Given the description of an element on the screen output the (x, y) to click on. 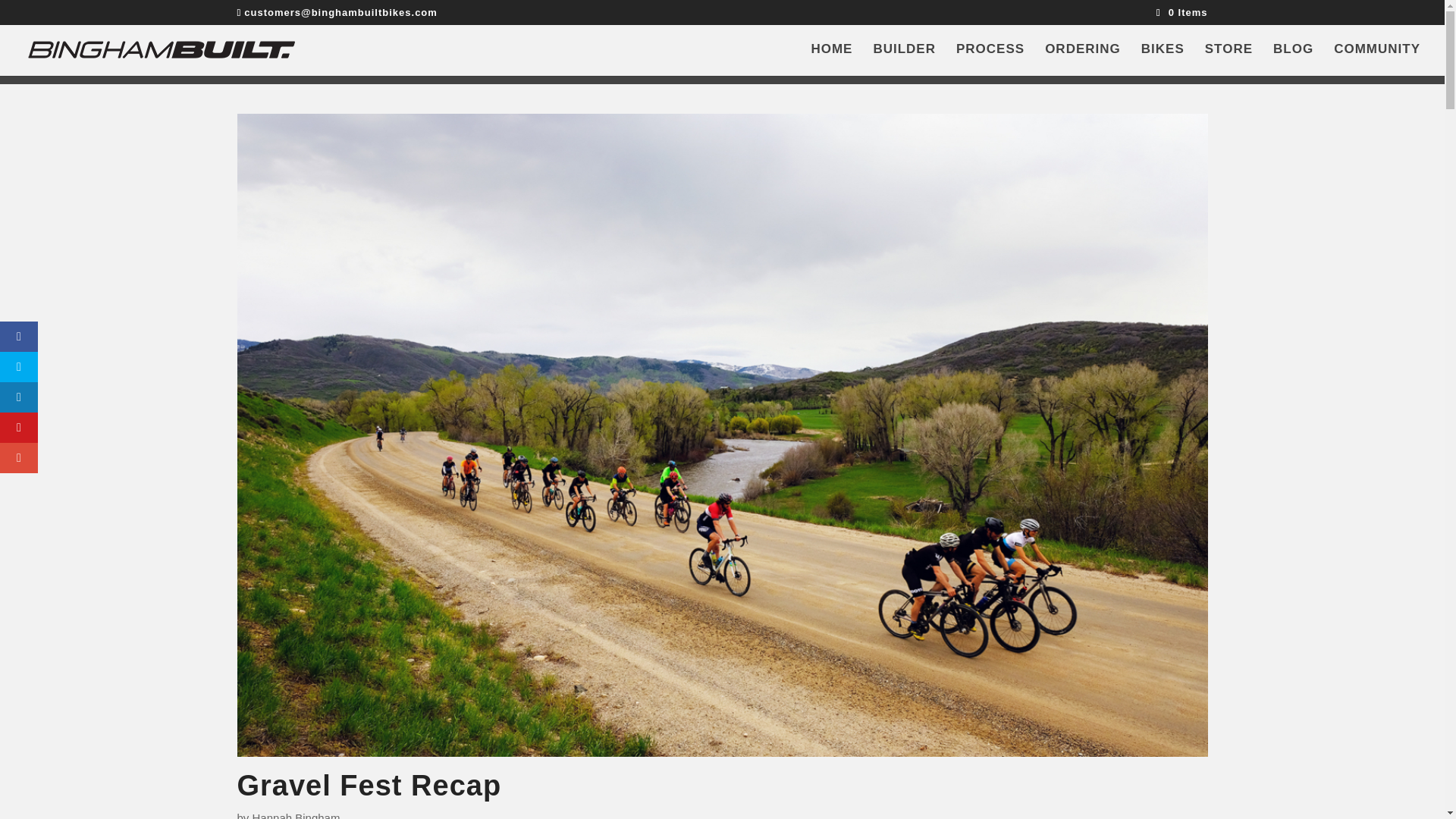
BUILDER (904, 60)
Hannah Bingham (295, 815)
ORDERING (1083, 60)
BIKES (1163, 60)
0 Items (1182, 12)
PROCESS (990, 60)
HOME (830, 60)
Posts by Hannah Bingham (295, 815)
STORE (1228, 60)
